Given the description of an element on the screen output the (x, y) to click on. 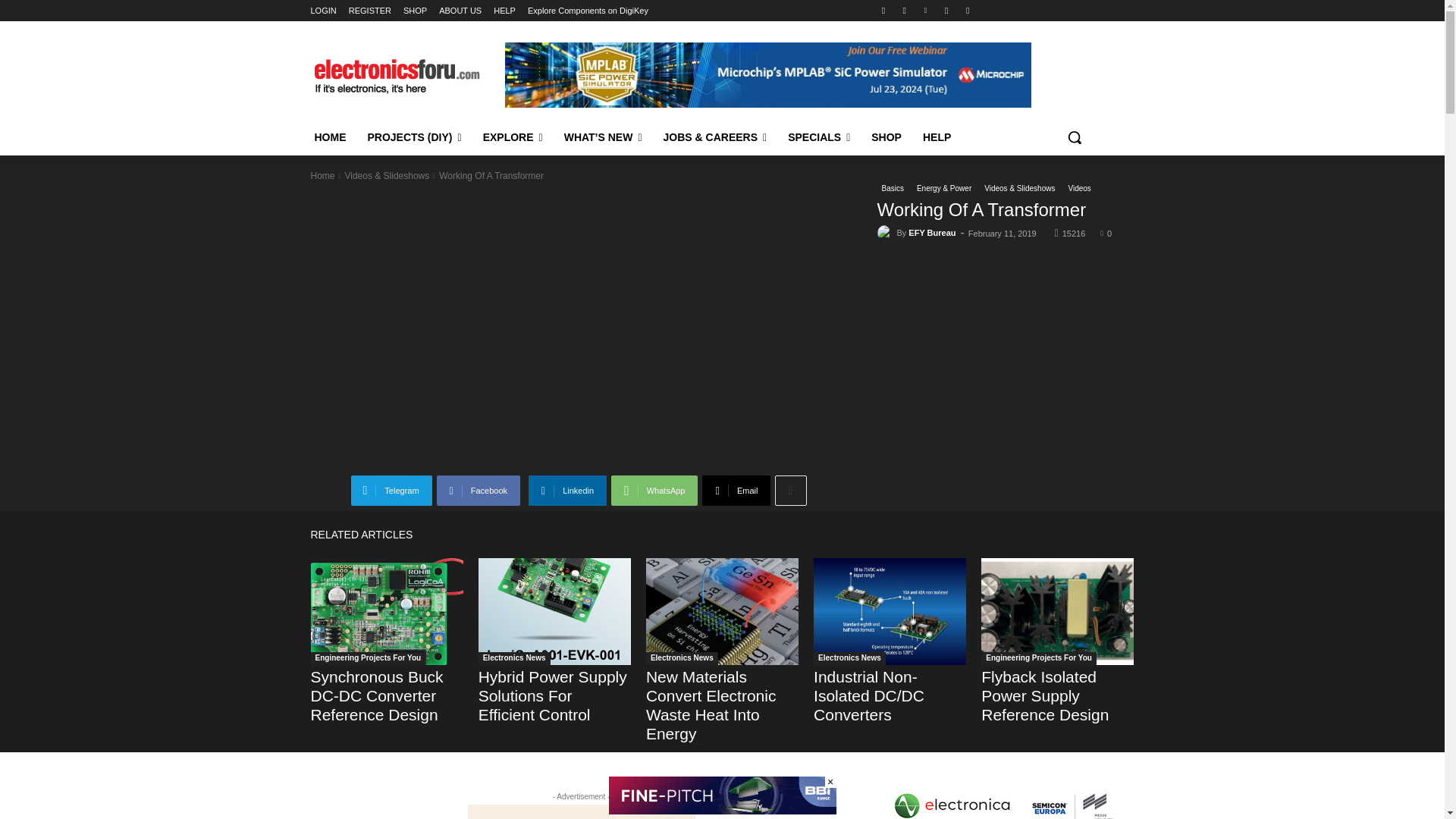
Facebook (883, 9)
Youtube (967, 9)
Telegram (391, 490)
Twitter (946, 9)
Linkedin (925, 9)
Instagram (903, 9)
Facebook (477, 490)
